Given the description of an element on the screen output the (x, y) to click on. 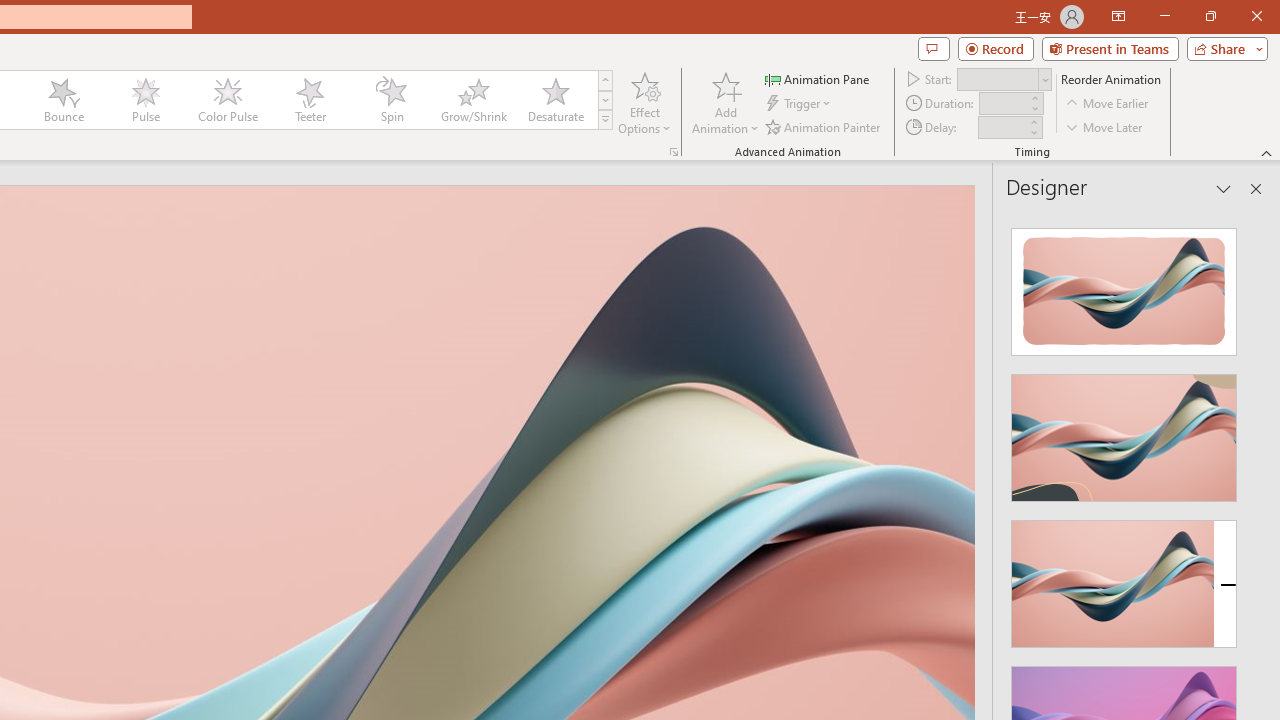
Trigger (799, 103)
Teeter (309, 100)
Move Earlier (1107, 103)
